Given the description of an element on the screen output the (x, y) to click on. 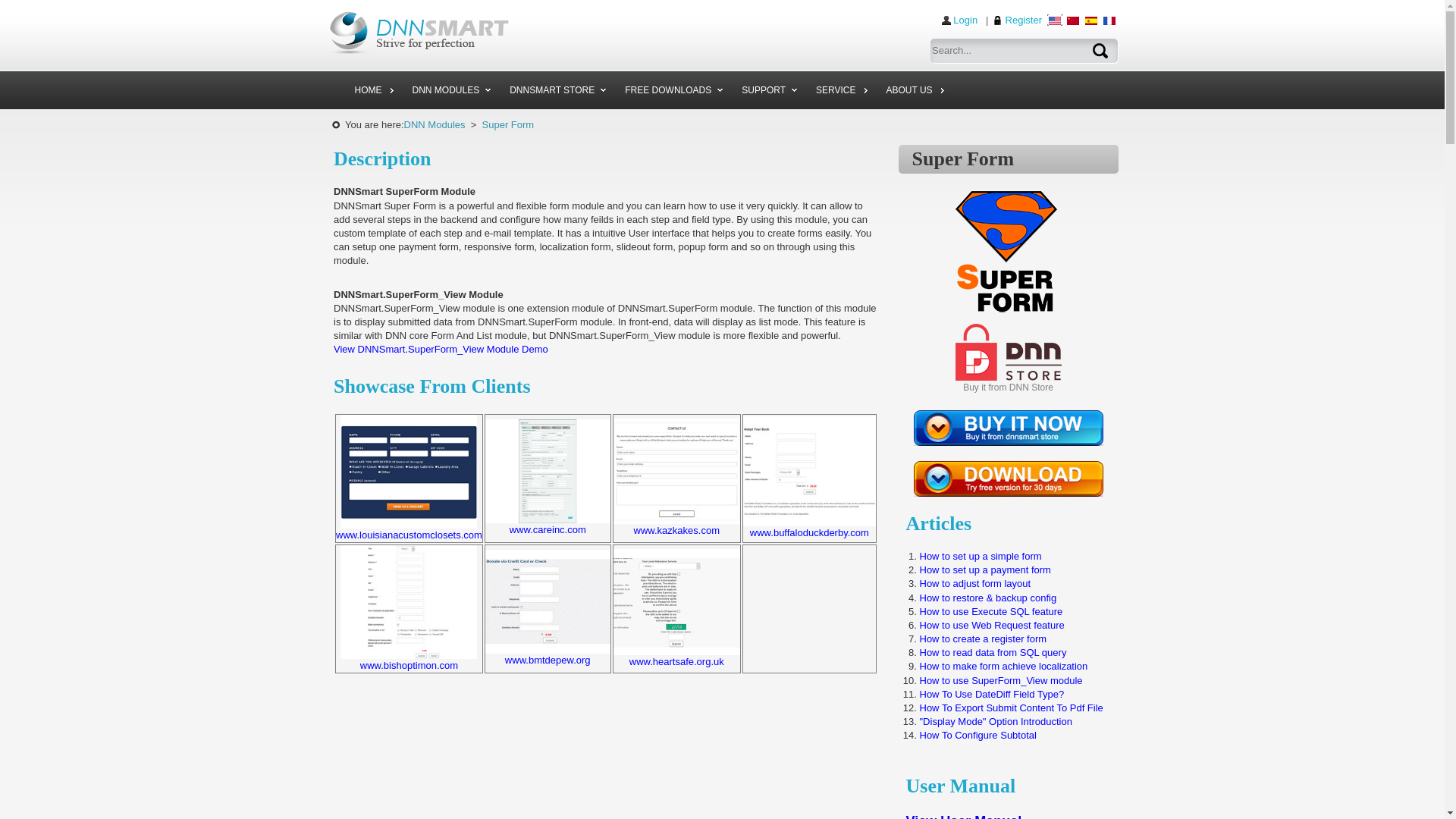
FREE DOWNLOADS (671, 89)
DNN MODULES (448, 89)
HOME (371, 89)
Register (1018, 19)
Login (959, 19)
Login (959, 19)
ABOUT US (913, 89)
SUPPORT (767, 89)
Register (1018, 19)
Search (913, 50)
SERVICE (840, 89)
DNNSMART STORE (554, 89)
